Given the description of an element on the screen output the (x, y) to click on. 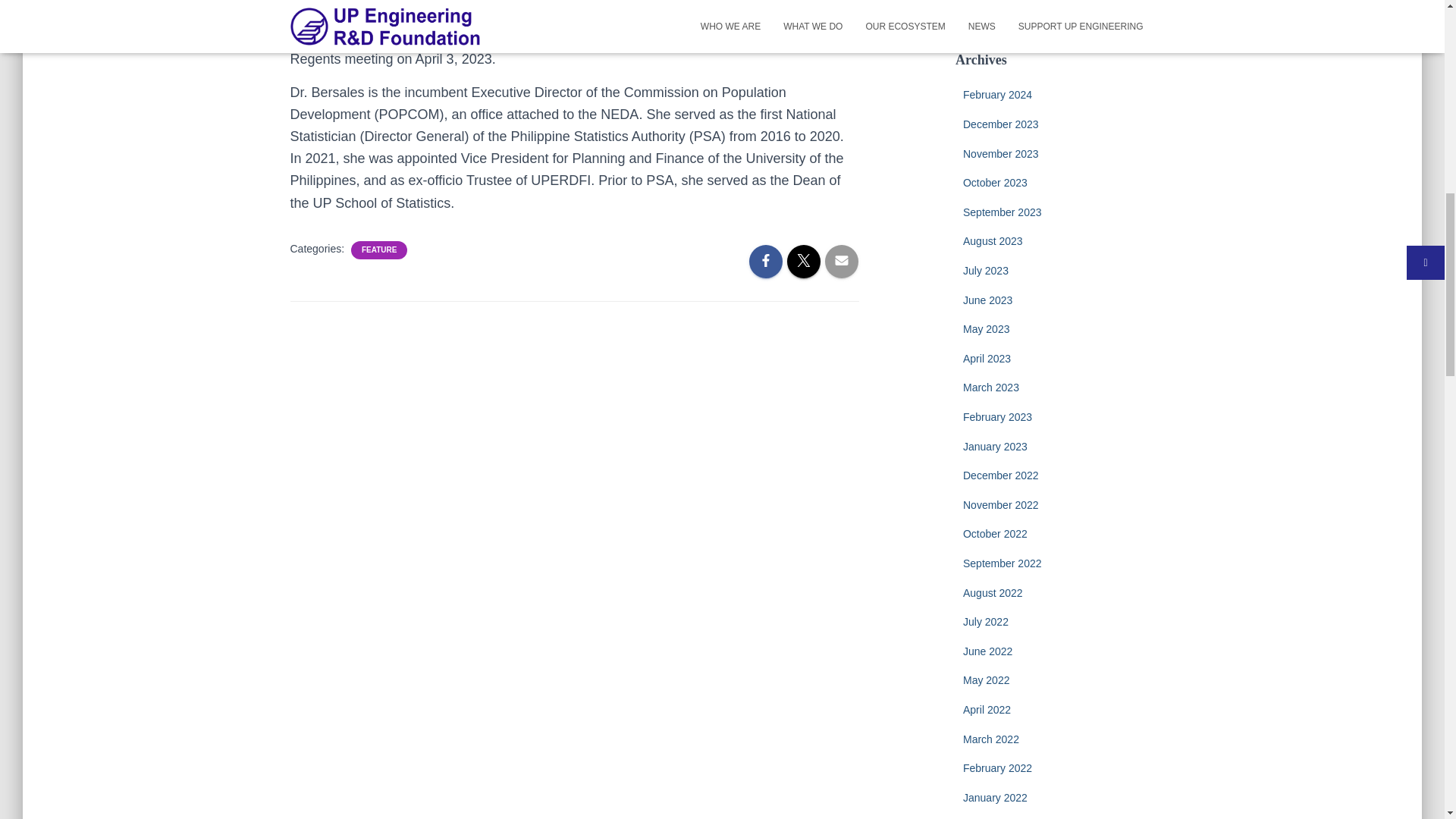
June 2023 (986, 300)
January 2023 (994, 446)
November 2023 (1000, 153)
May 2023 (985, 328)
March 2023 (990, 387)
July 2022 (985, 621)
June 2022 (986, 651)
February 2024 (997, 94)
April 2023 (986, 358)
FEATURE (378, 249)
December 2023 (1000, 123)
December 2022 (1000, 475)
November 2022 (1000, 504)
May 2022 (985, 680)
